Given the description of an element on the screen output the (x, y) to click on. 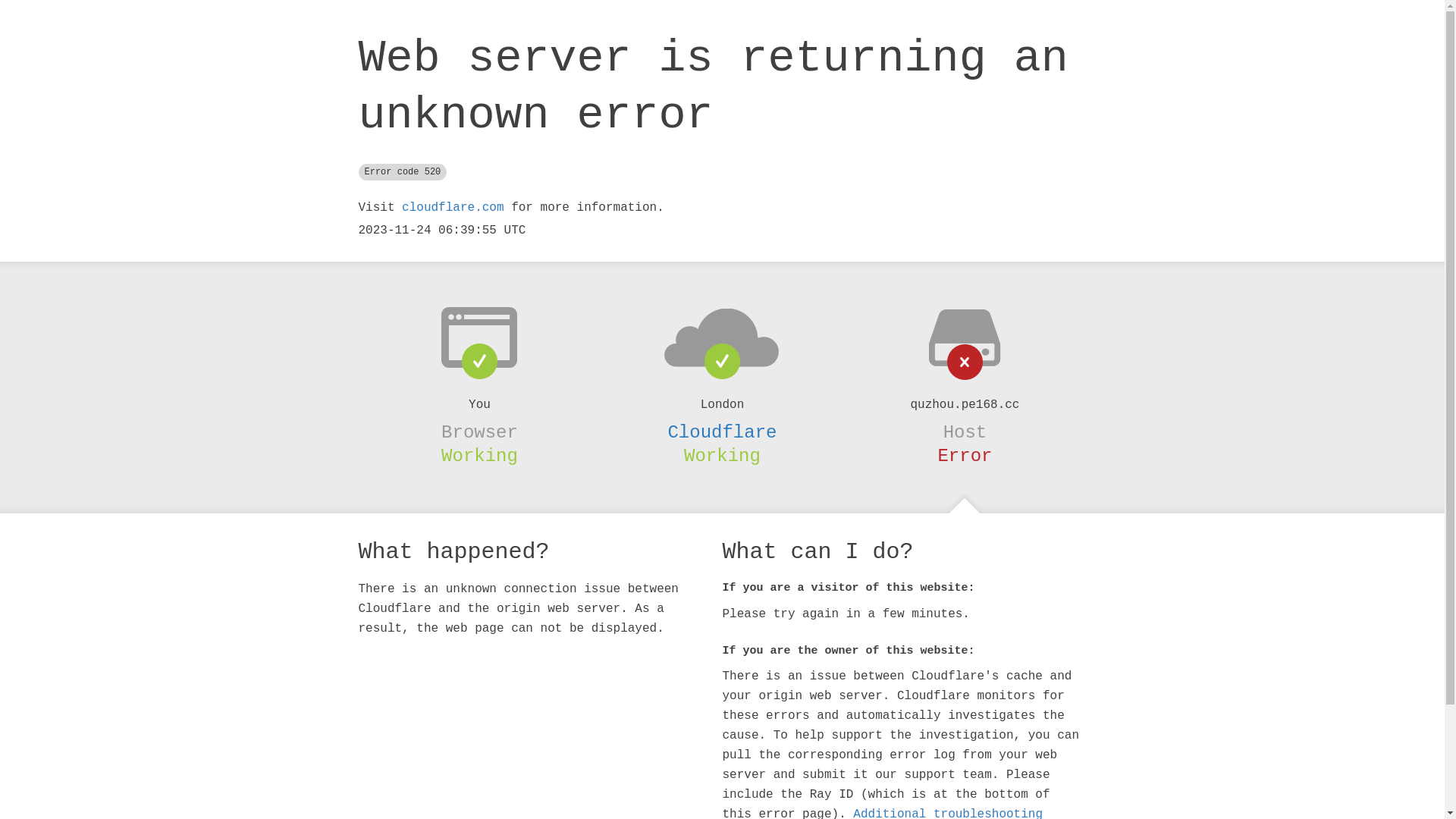
cloudflare.com Element type: text (452, 207)
Cloudflare Element type: text (721, 432)
